Given the description of an element on the screen output the (x, y) to click on. 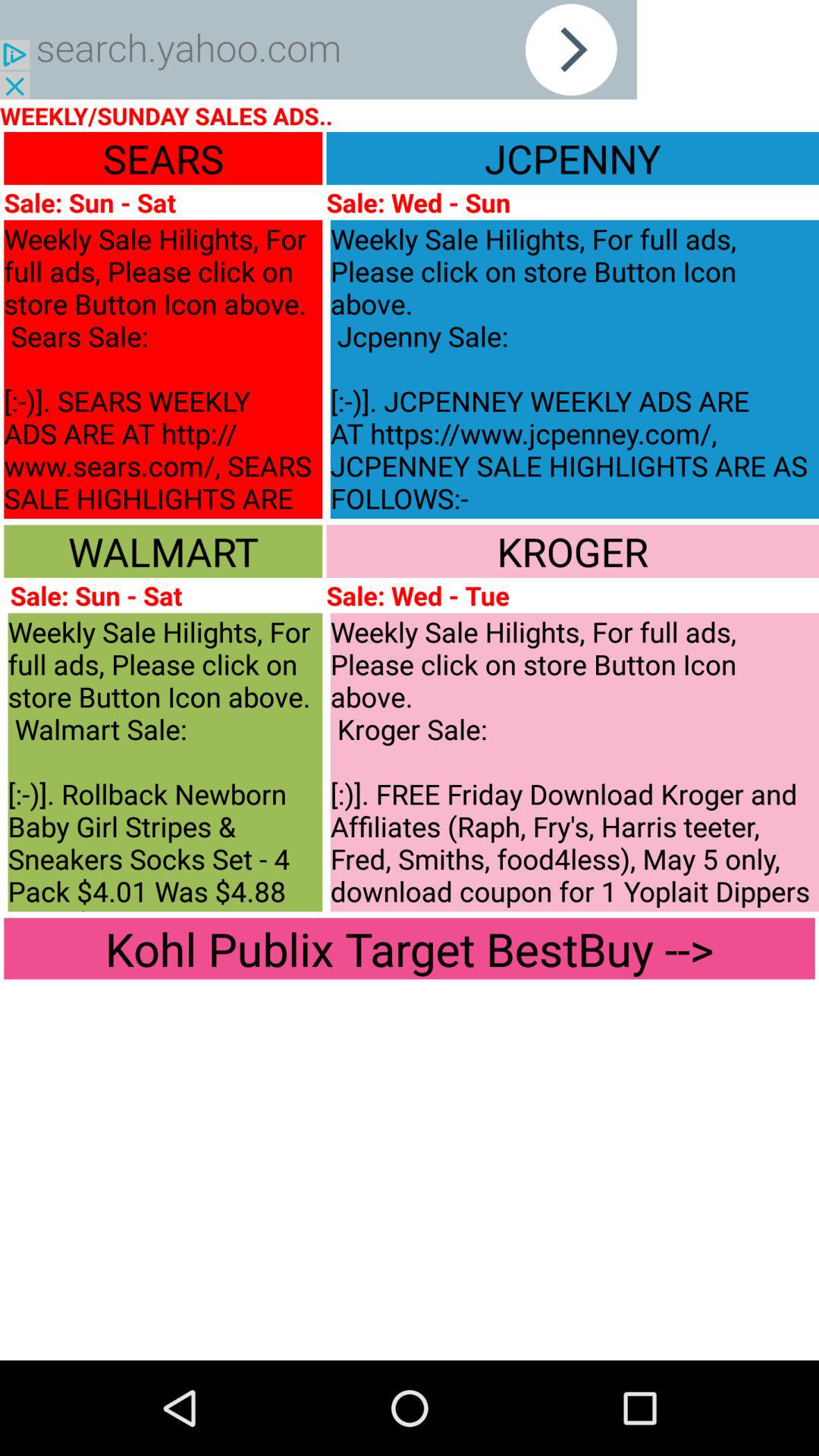
go to yahoo search (318, 49)
